Given the description of an element on the screen output the (x, y) to click on. 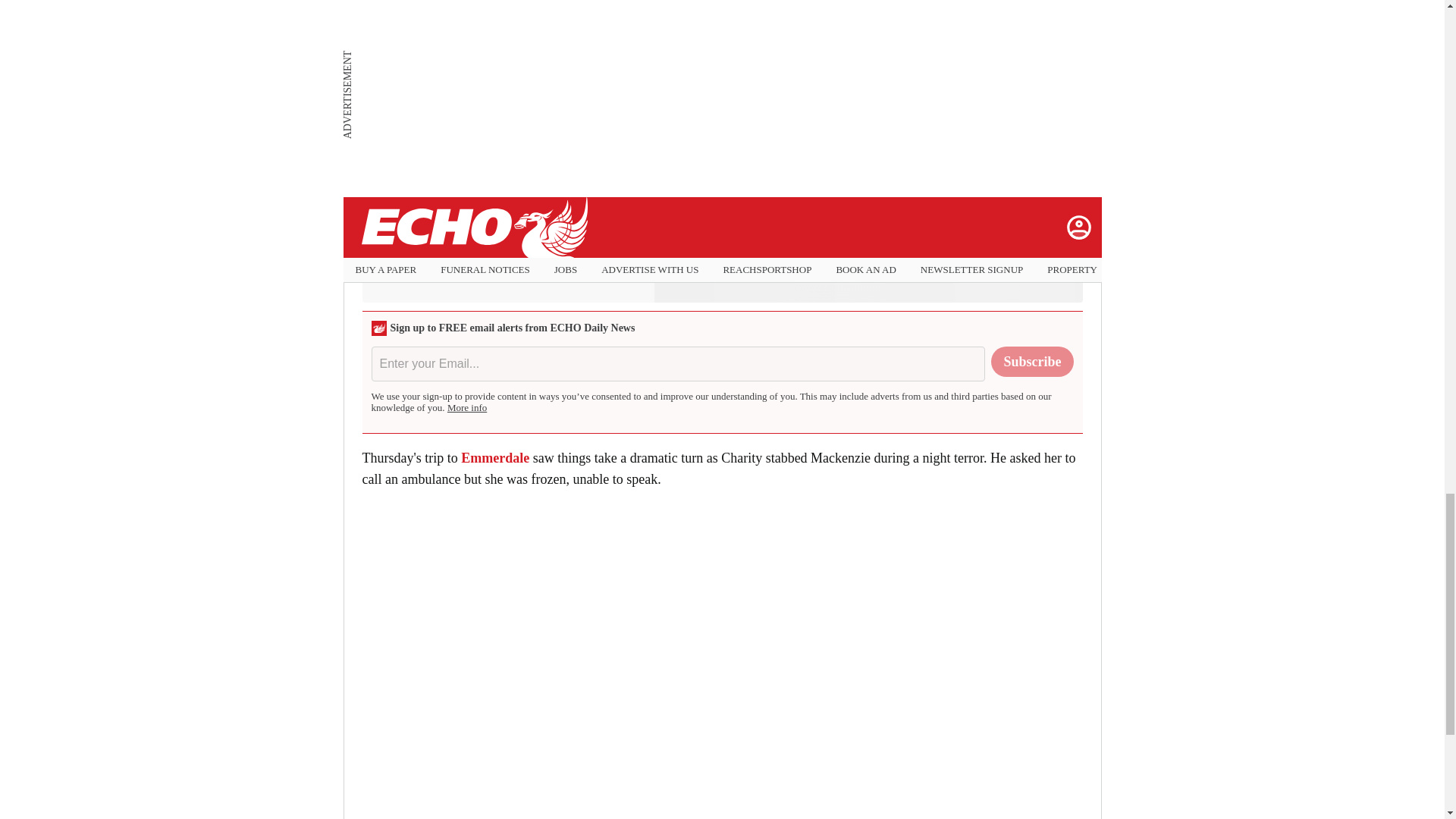
More info (466, 407)
Emmerdale (495, 458)
Subscribe (1032, 361)
